Given the description of an element on the screen output the (x, y) to click on. 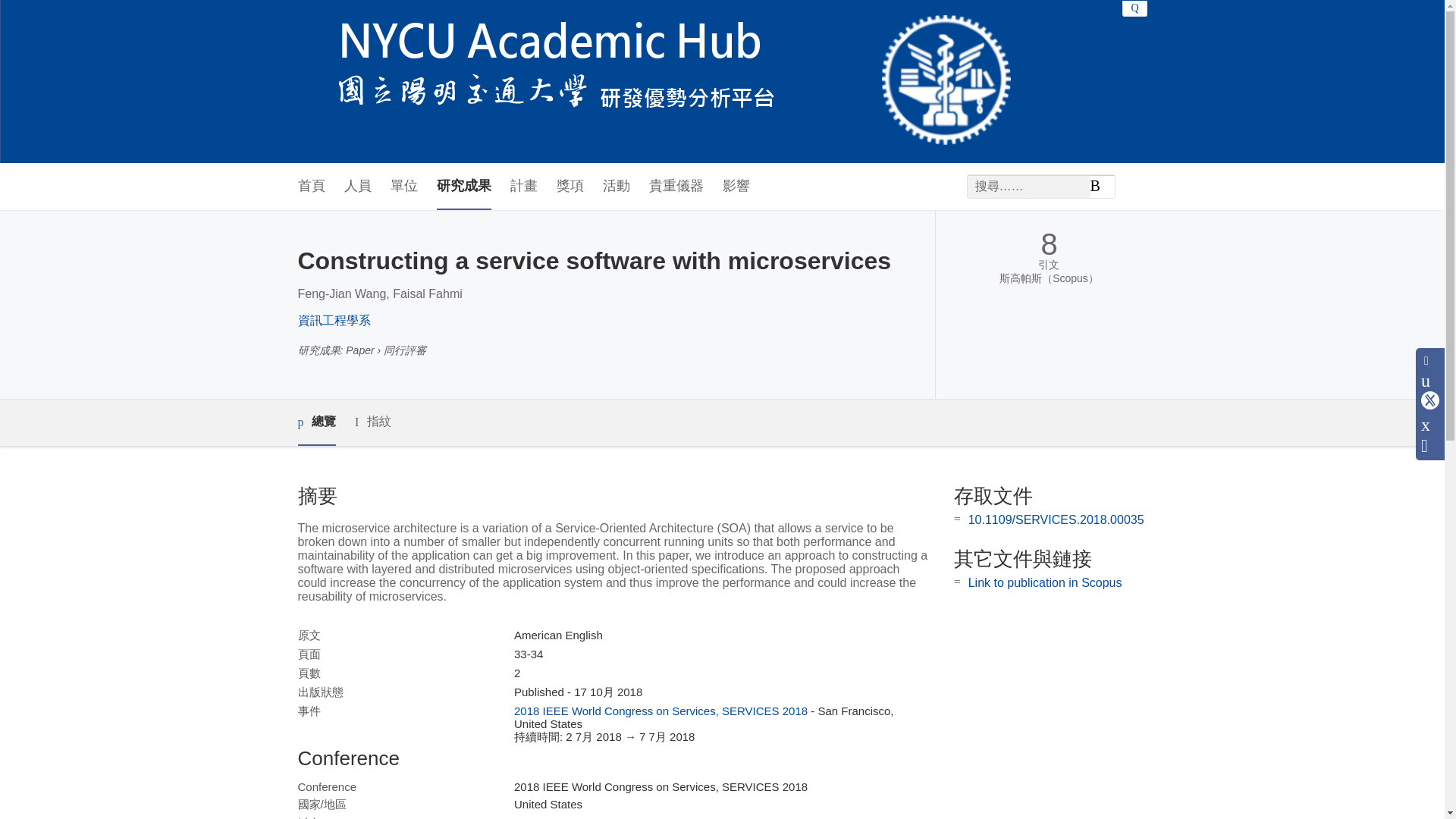
2018 IEEE World Congress on Services, SERVICES 2018 (660, 710)
Link to publication in Scopus (1045, 582)
